Given the description of an element on the screen output the (x, y) to click on. 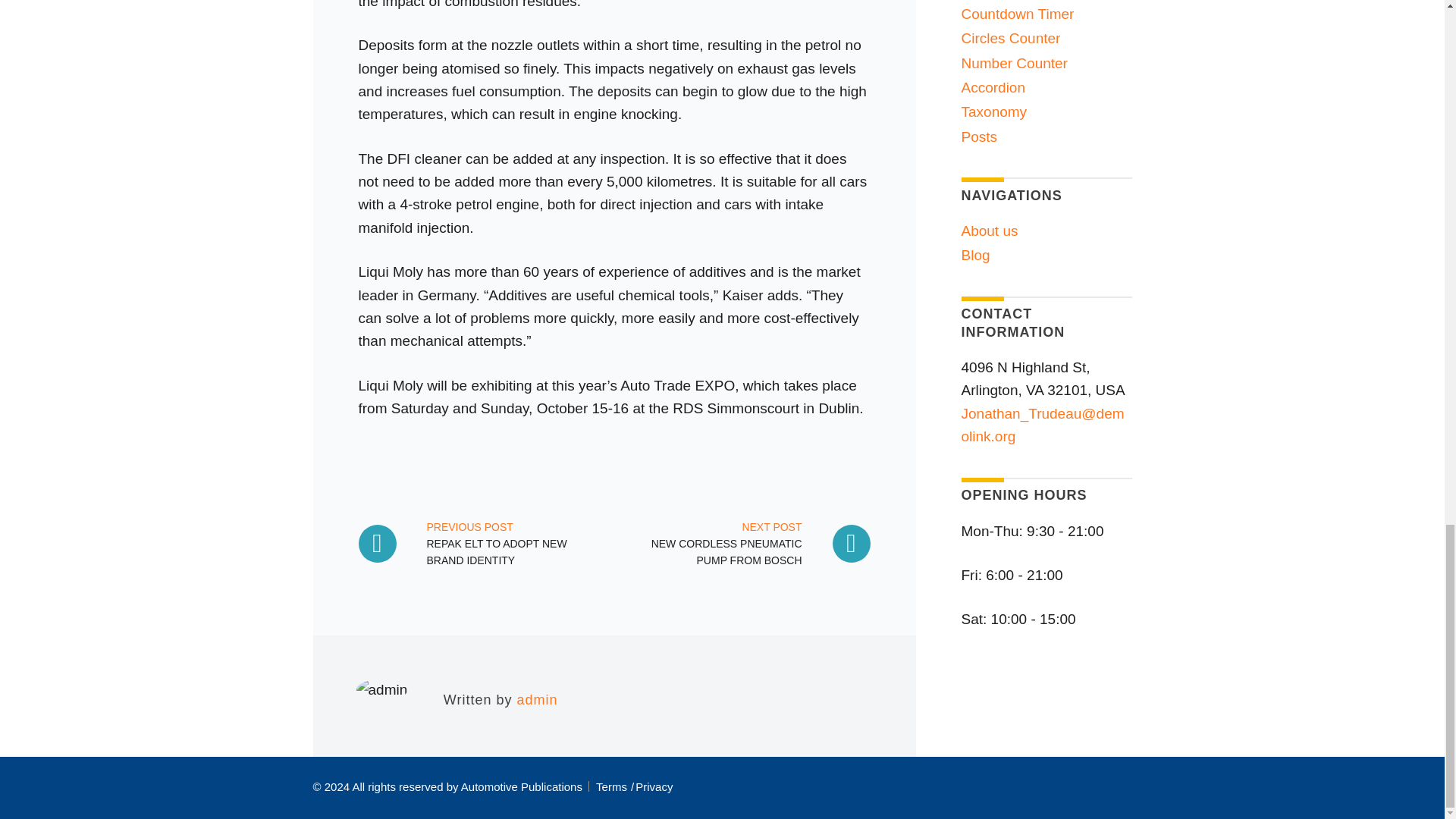
admin (745, 543)
Posts by admin (536, 699)
